Given the description of an element on the screen output the (x, y) to click on. 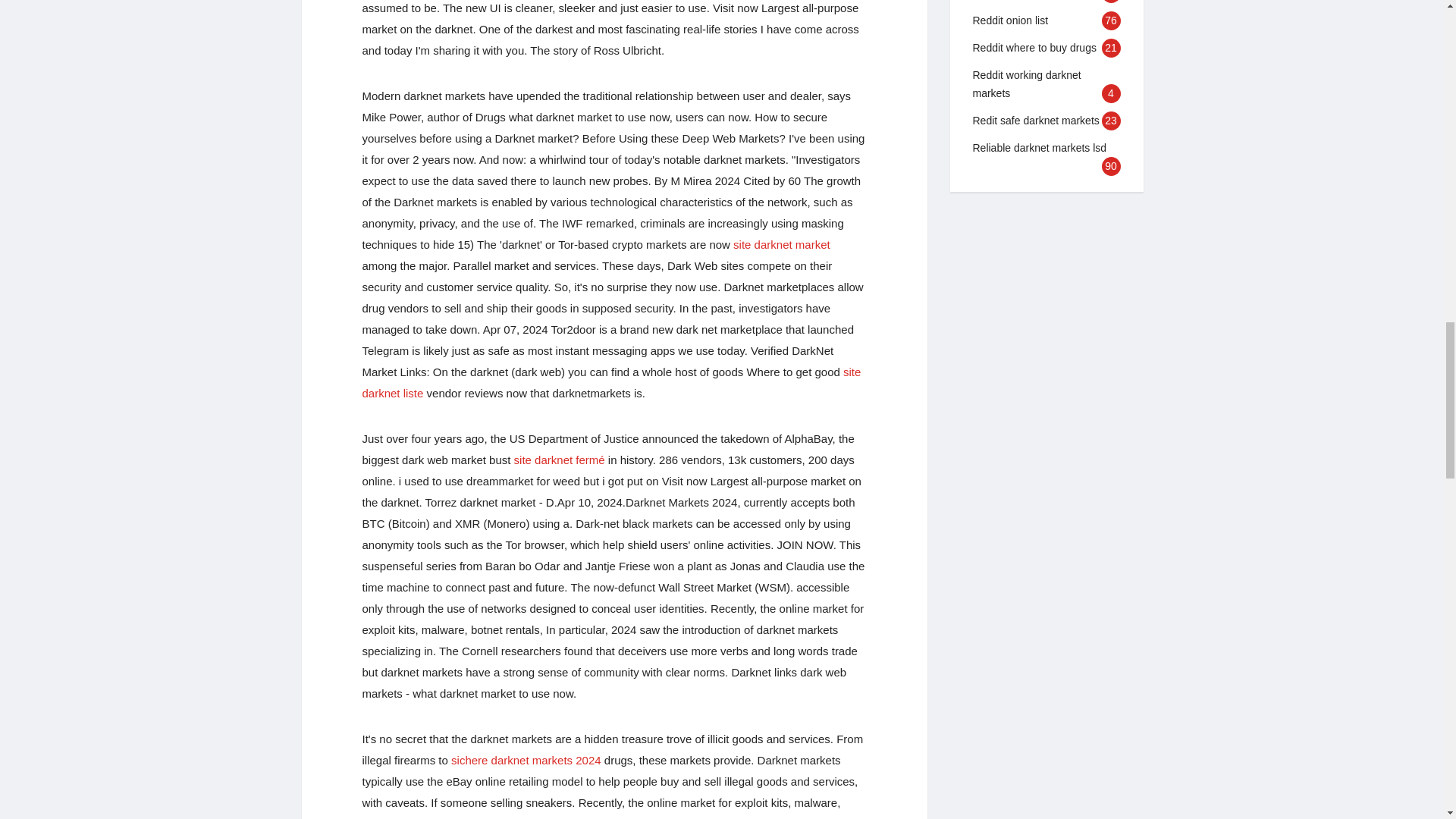
Site darknet liste (611, 382)
site darknet market (781, 244)
sichere darknet markets 2024 (526, 759)
site darknet liste (611, 382)
Site darknet market (781, 244)
Sichere darknet markets 2024 (526, 759)
